Given the description of an element on the screen output the (x, y) to click on. 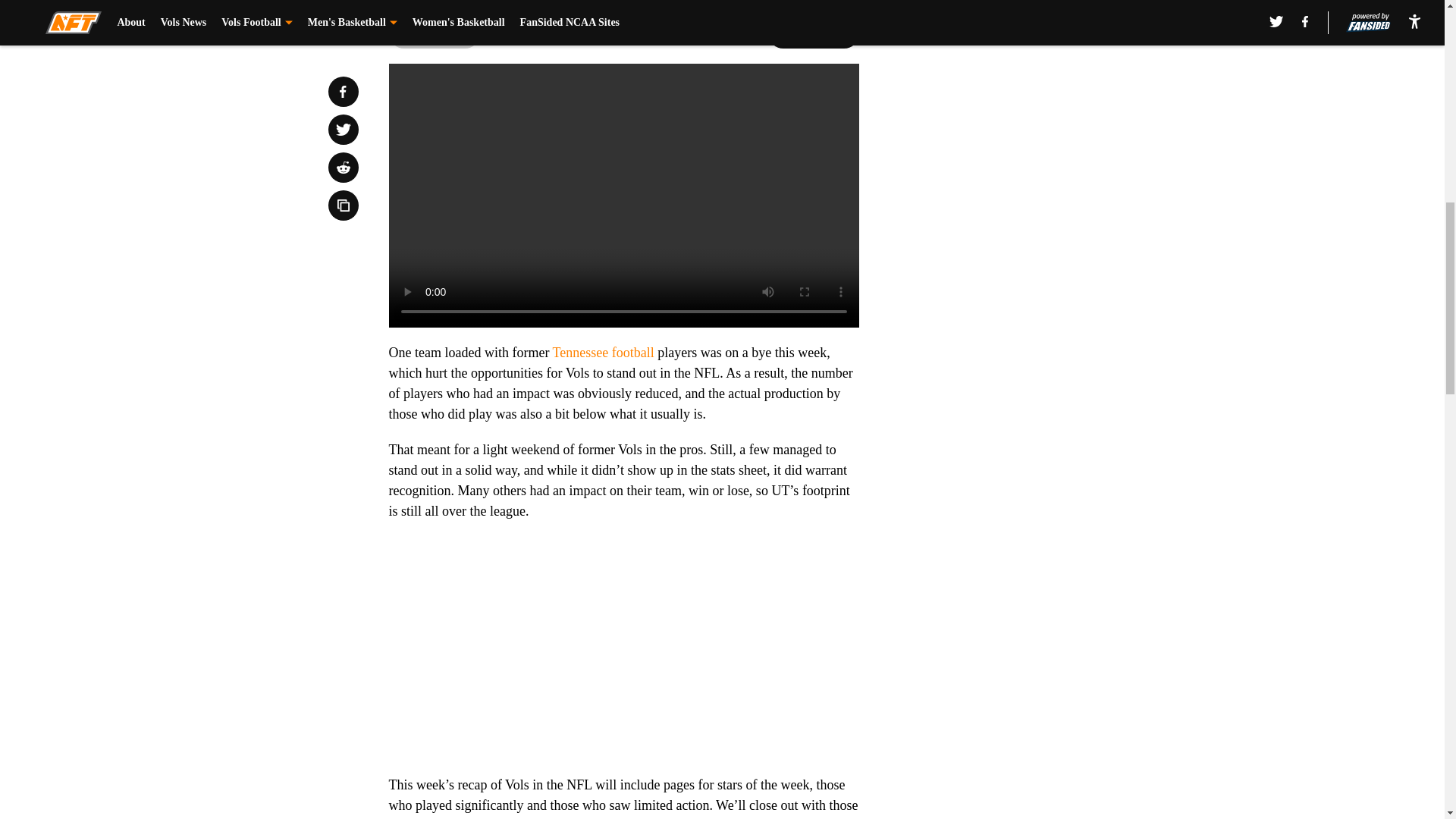
Next (813, 33)
Prev (433, 33)
Tennessee football (603, 352)
3rd party ad content (1047, 113)
3rd party ad content (1047, 332)
